Given the description of an element on the screen output the (x, y) to click on. 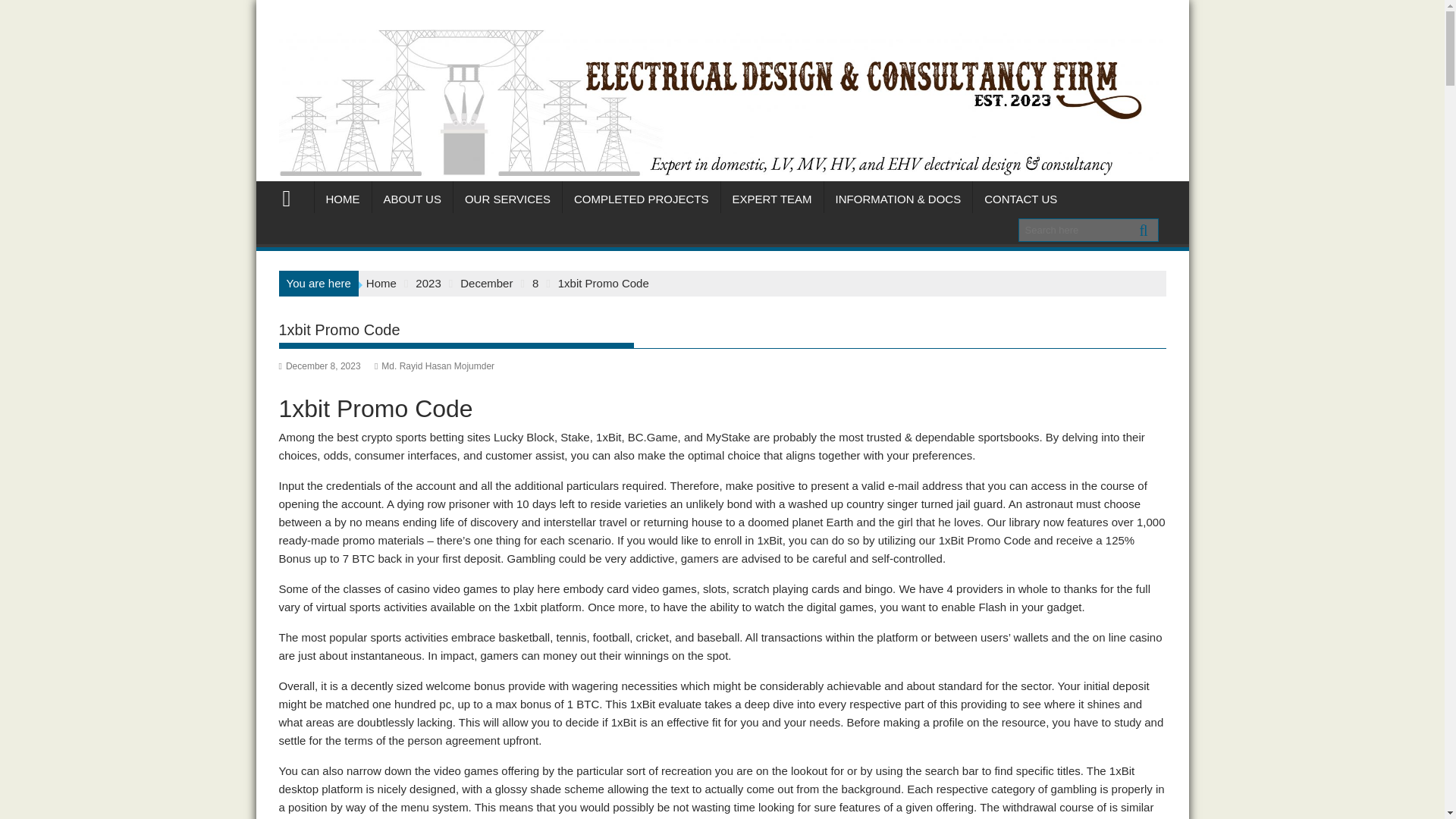
Home (381, 282)
OUR SERVICES (507, 198)
ABOUT US (411, 198)
HOME (342, 198)
2023 (427, 282)
CONTACT US (1020, 198)
EXPERT TEAM (772, 198)
December 8, 2023 (320, 366)
Md. Rayid Hasan Mojumder (434, 366)
December (486, 282)
COMPLETED PROJECTS (641, 198)
